Given the description of an element on the screen output the (x, y) to click on. 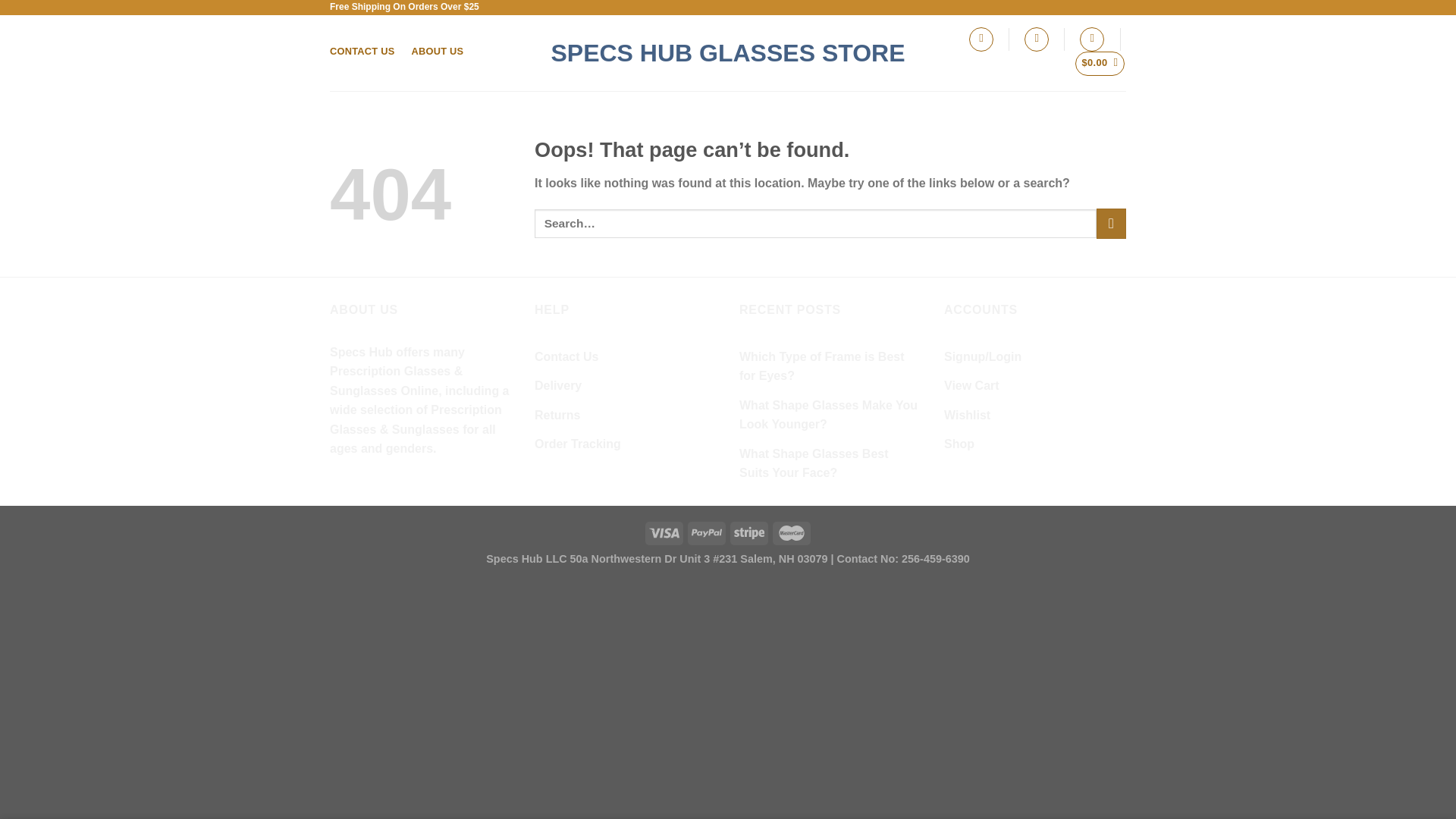
ABOUT US (436, 50)
Basket (1100, 63)
Order Tracking (577, 443)
What Shape Glasses Make You Look Younger? (830, 414)
Which Type of Frame is Best for Eyes? (830, 366)
SPECS HUB GLASSES STORE (728, 52)
Specs Hub Glasses Store (728, 52)
CONTACT US (362, 50)
Shop (958, 443)
Delivery (557, 385)
